Given the description of an element on the screen output the (x, y) to click on. 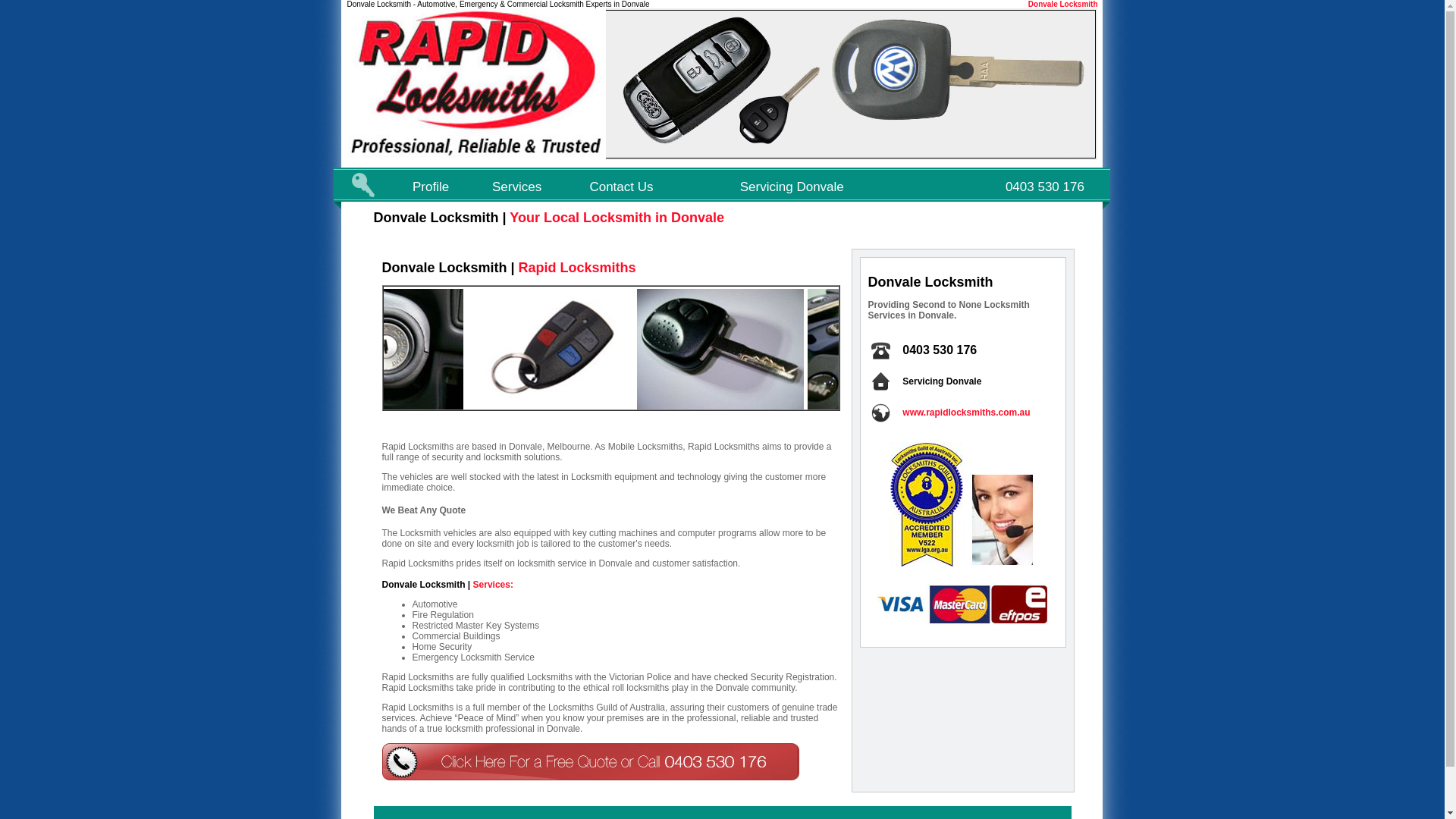
Profile Element type: text (430, 185)
Contact Us Element type: text (620, 185)
Services Element type: text (516, 185)
Donvale Locksmith Element type: text (1063, 4)
www.rapidlocksmiths.com.au Element type: text (965, 412)
